Given the description of an element on the screen output the (x, y) to click on. 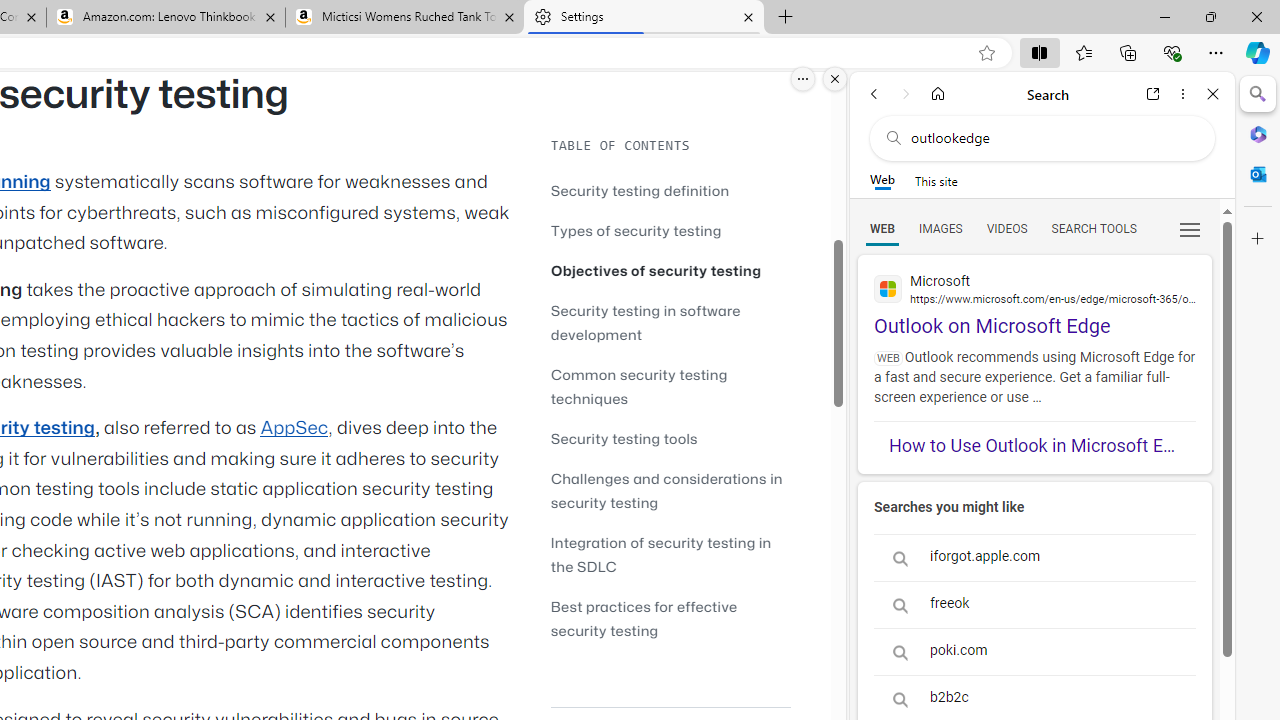
Common security testing techniques (639, 385)
poki.com (1034, 651)
Best practices for effective security testing (644, 618)
Security testing in software development (670, 322)
Integration of security testing in the SDLC (670, 553)
Security testing definition (670, 190)
